Given the description of an element on the screen output the (x, y) to click on. 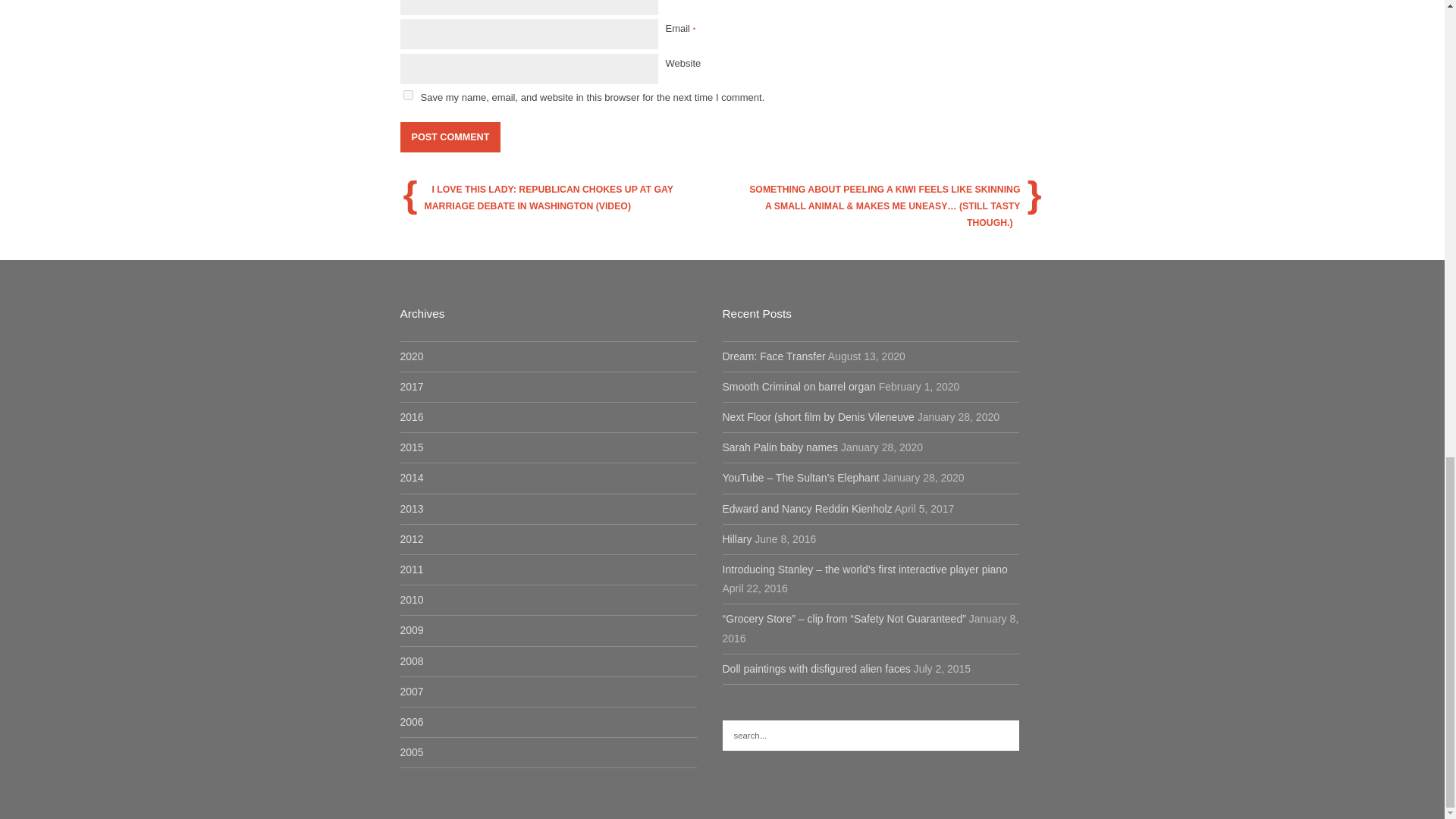
yes (408, 94)
Dream: Face Transfer (773, 356)
2011 (411, 569)
2020 (411, 356)
2010 (411, 599)
2007 (411, 691)
search... (869, 735)
2017 (411, 386)
2016 (411, 417)
2005 (411, 752)
